Given the description of an element on the screen output the (x, y) to click on. 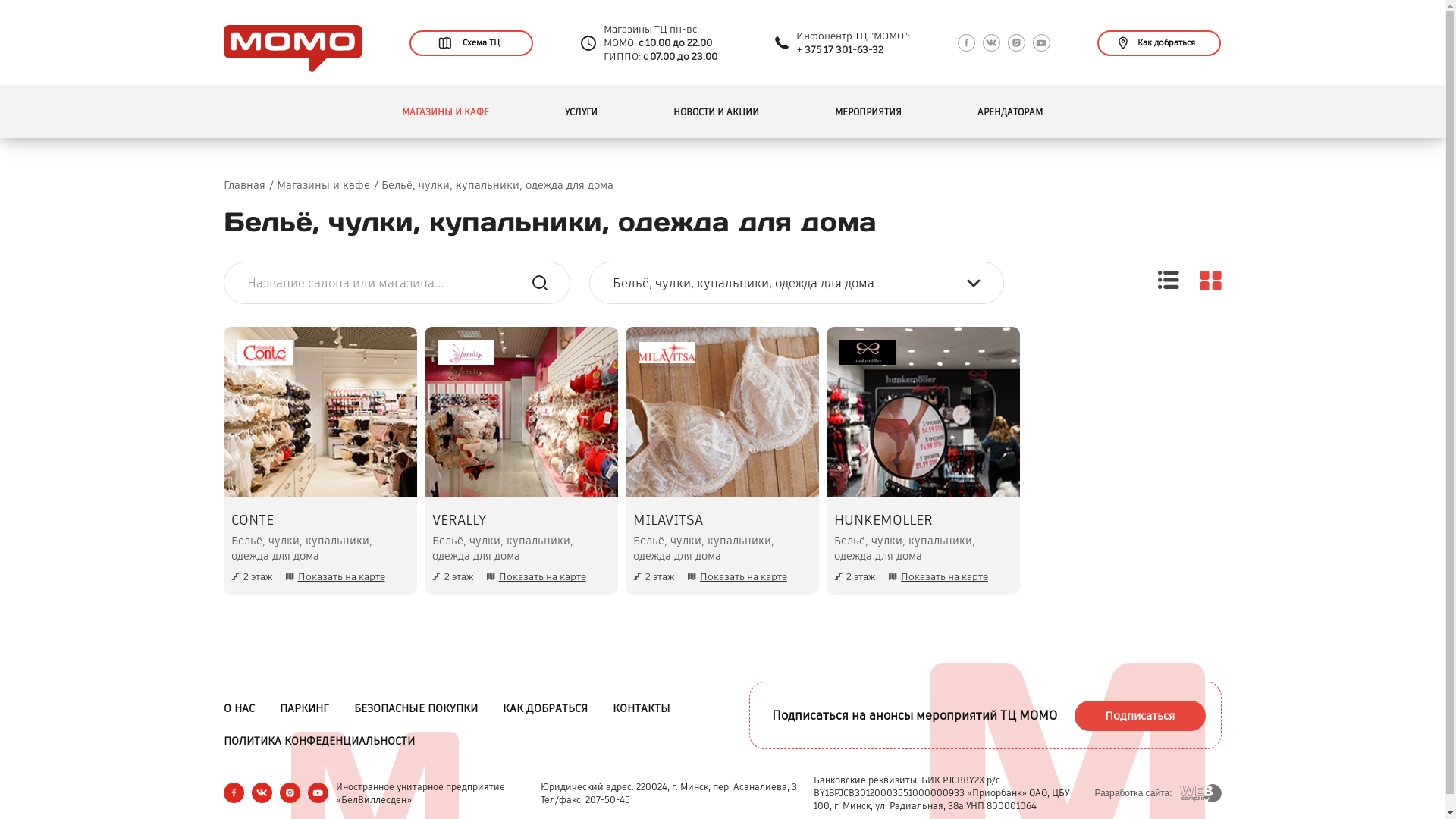
+ 375 17 301-63-32 Element type: text (839, 49)
